Given the description of an element on the screen output the (x, y) to click on. 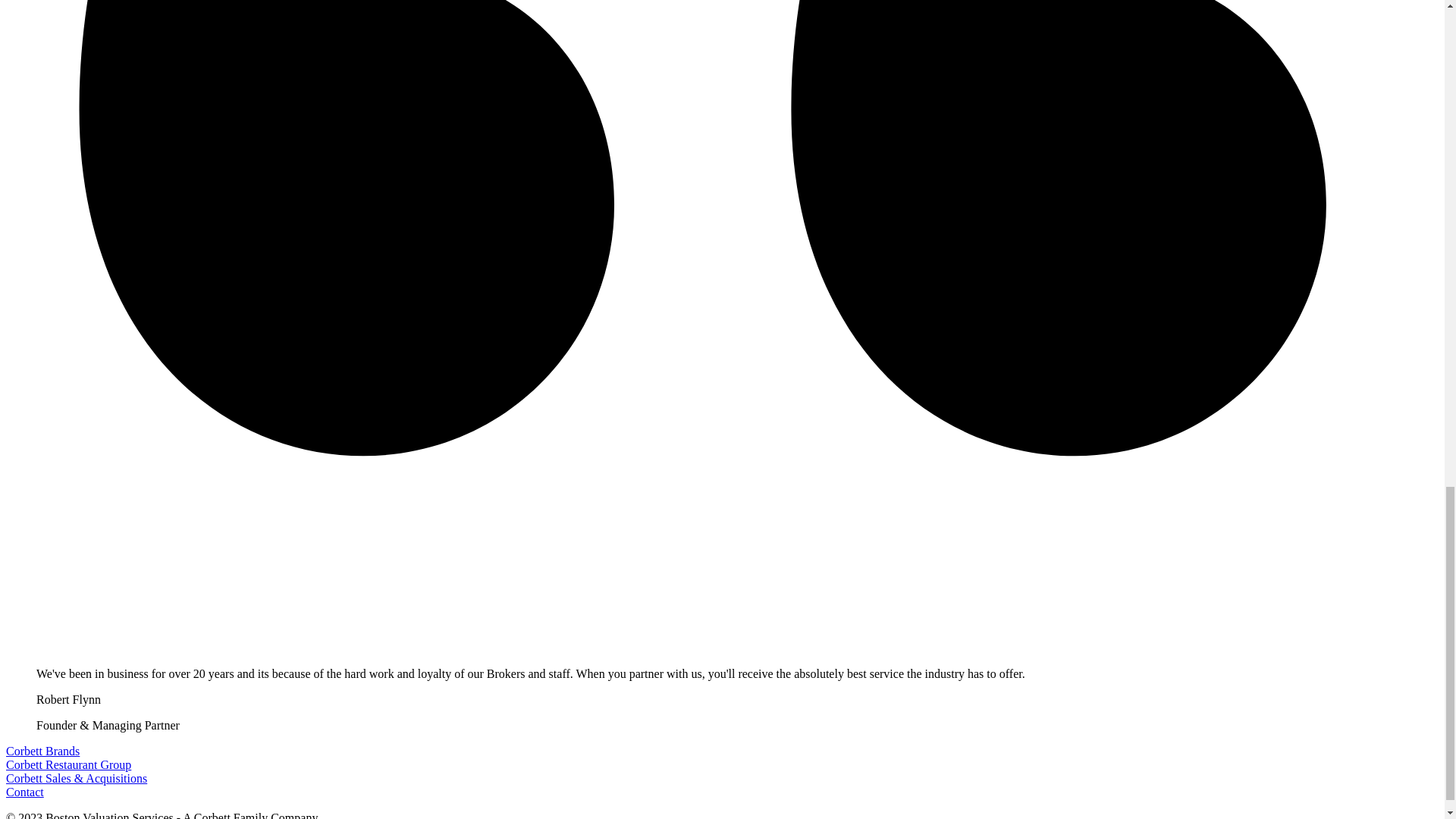
Contact Corbett Brands (24, 791)
Corbett Brands (42, 750)
Corbett Restaurant Group (68, 764)
Contact (24, 791)
Corbett Brands (42, 750)
Corbett Restaurant Group (68, 764)
